Given the description of an element on the screen output the (x, y) to click on. 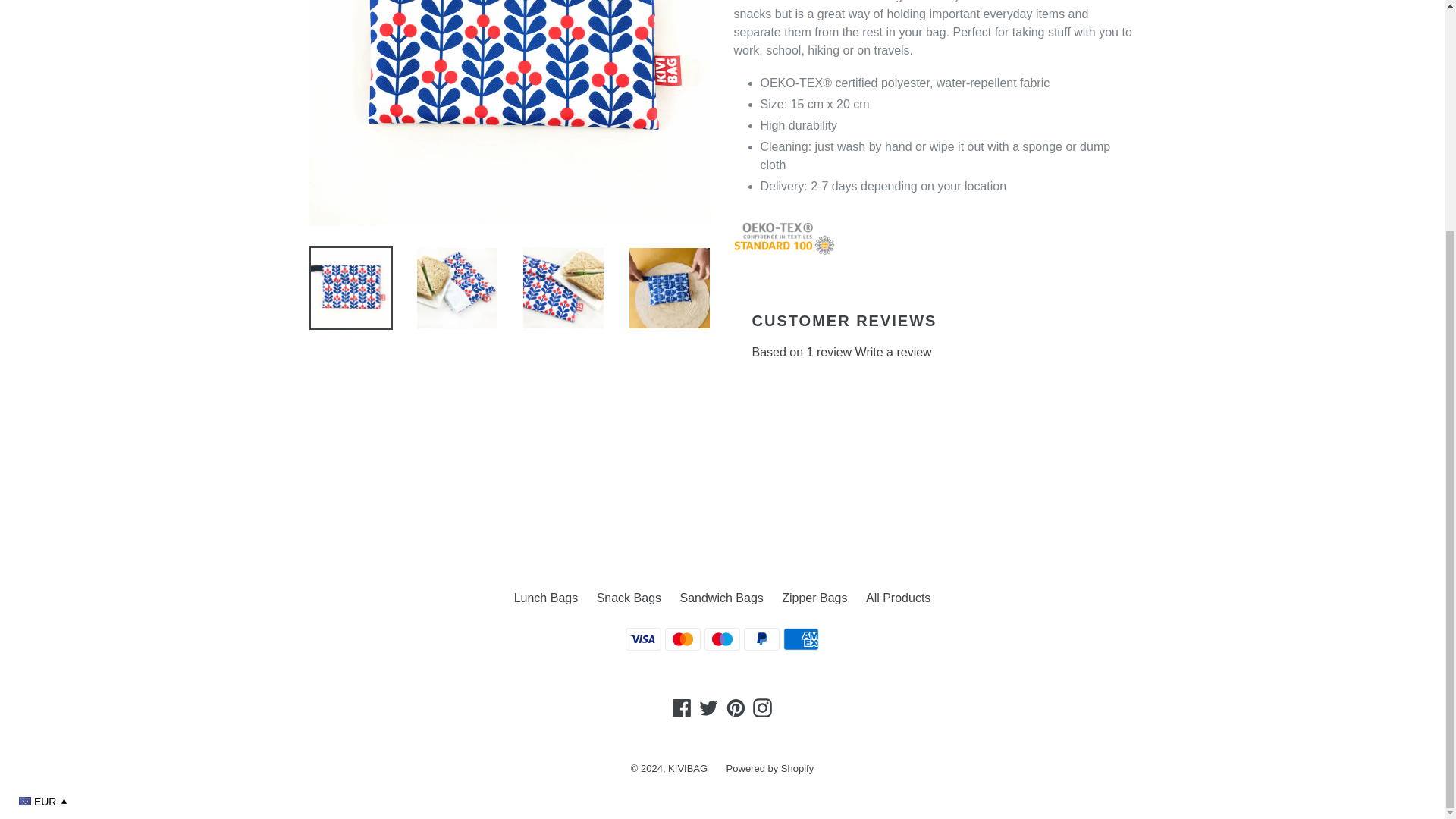
KIVIBAG on Pinterest (735, 707)
KIVIBAG on Twitter (708, 707)
KIVIBAG on Facebook (681, 707)
KIVIBAG on Instagram (762, 707)
